Given the description of an element on the screen output the (x, y) to click on. 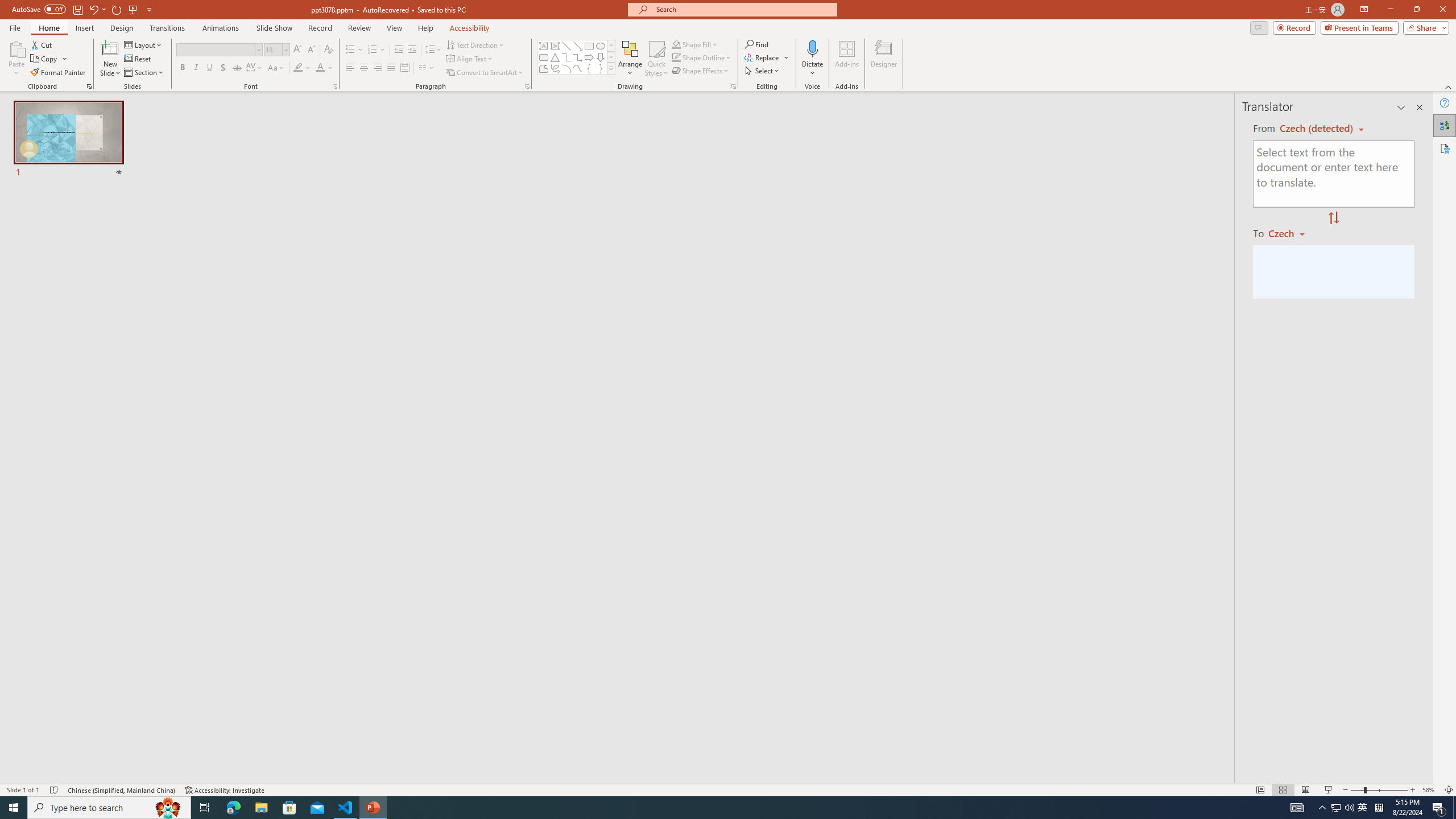
Czech (1291, 232)
Shape Effects (700, 69)
